Given the description of an element on the screen output the (x, y) to click on. 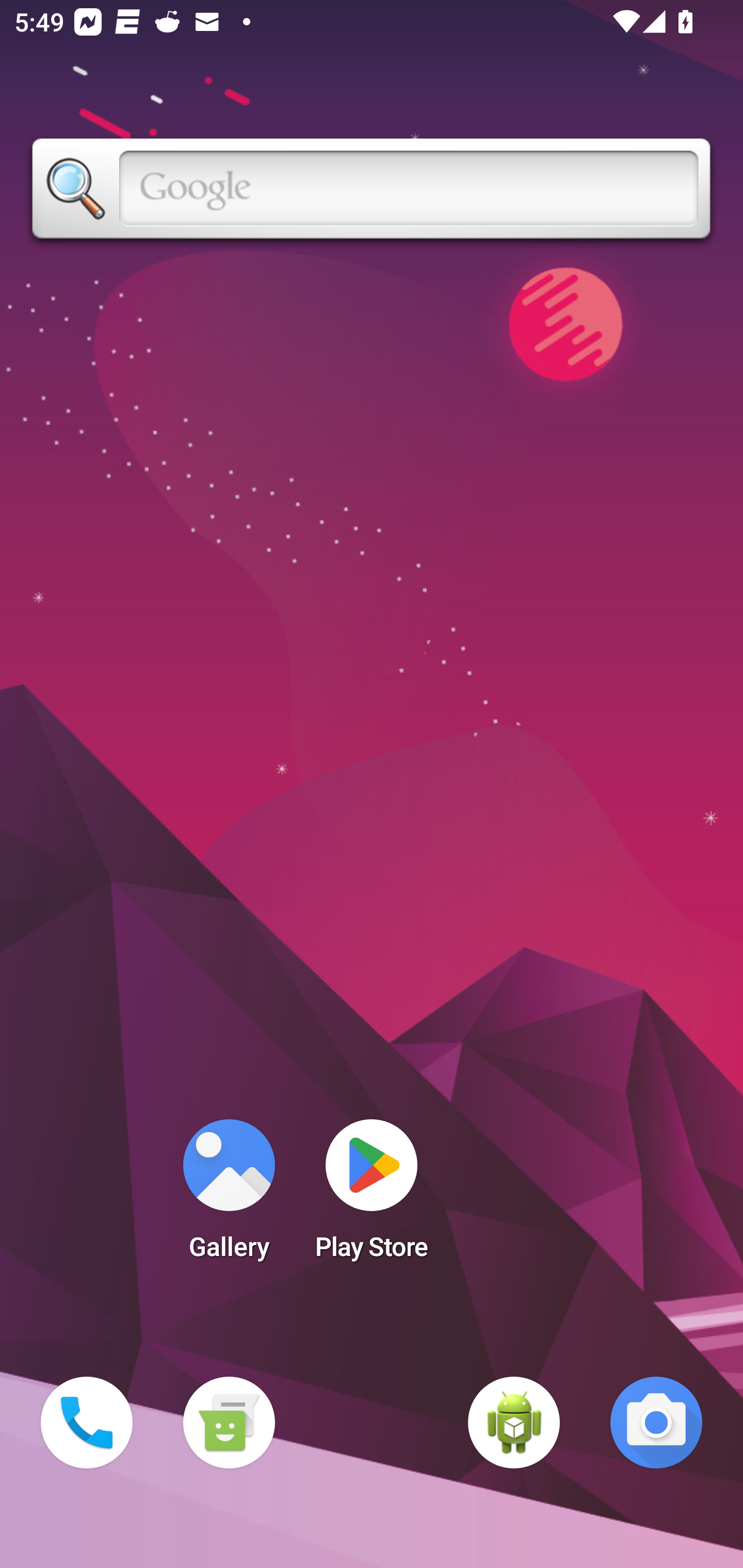
Gallery (228, 1195)
Play Store (371, 1195)
Phone (86, 1422)
Messaging (228, 1422)
WebView Browser Tester (513, 1422)
Camera (656, 1422)
